Given the description of an element on the screen output the (x, y) to click on. 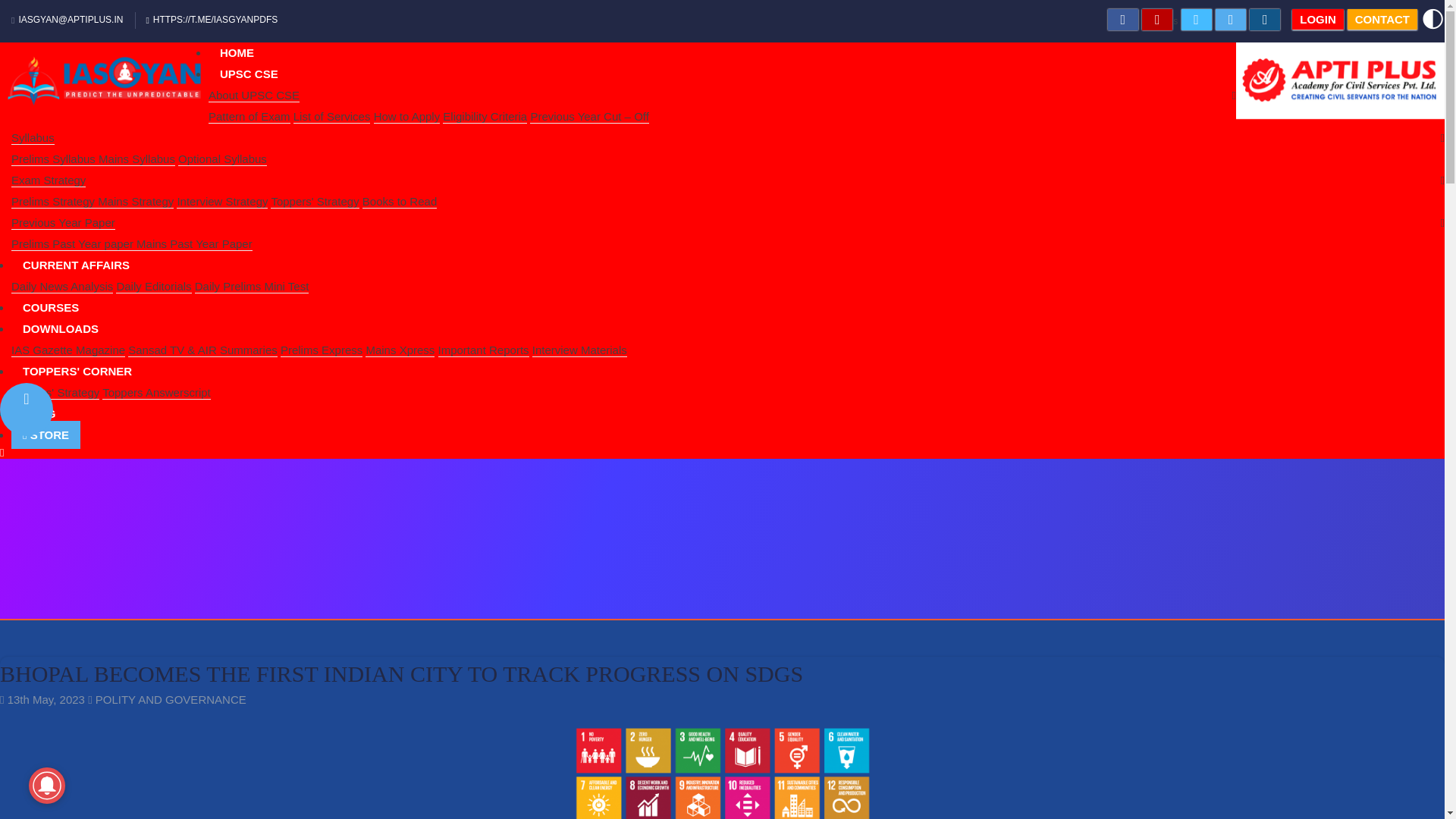
Prelims Syllabus (55, 159)
List of Services (332, 116)
Syllabus (33, 137)
CURRENT AFFAIRS (76, 264)
Mains Past Year Paper (193, 243)
UPSC CSE (248, 73)
Eligibility Criteria (484, 116)
Prelims Past Year paper (73, 243)
DOWNLOADS (60, 328)
Daily News Analysis (62, 286)
Previous Year Paper (63, 223)
HOME (236, 52)
Daily Editorials (153, 286)
Interview Strategy (221, 201)
Daily Prelims Mini Test (251, 286)
